Given the description of an element on the screen output the (x, y) to click on. 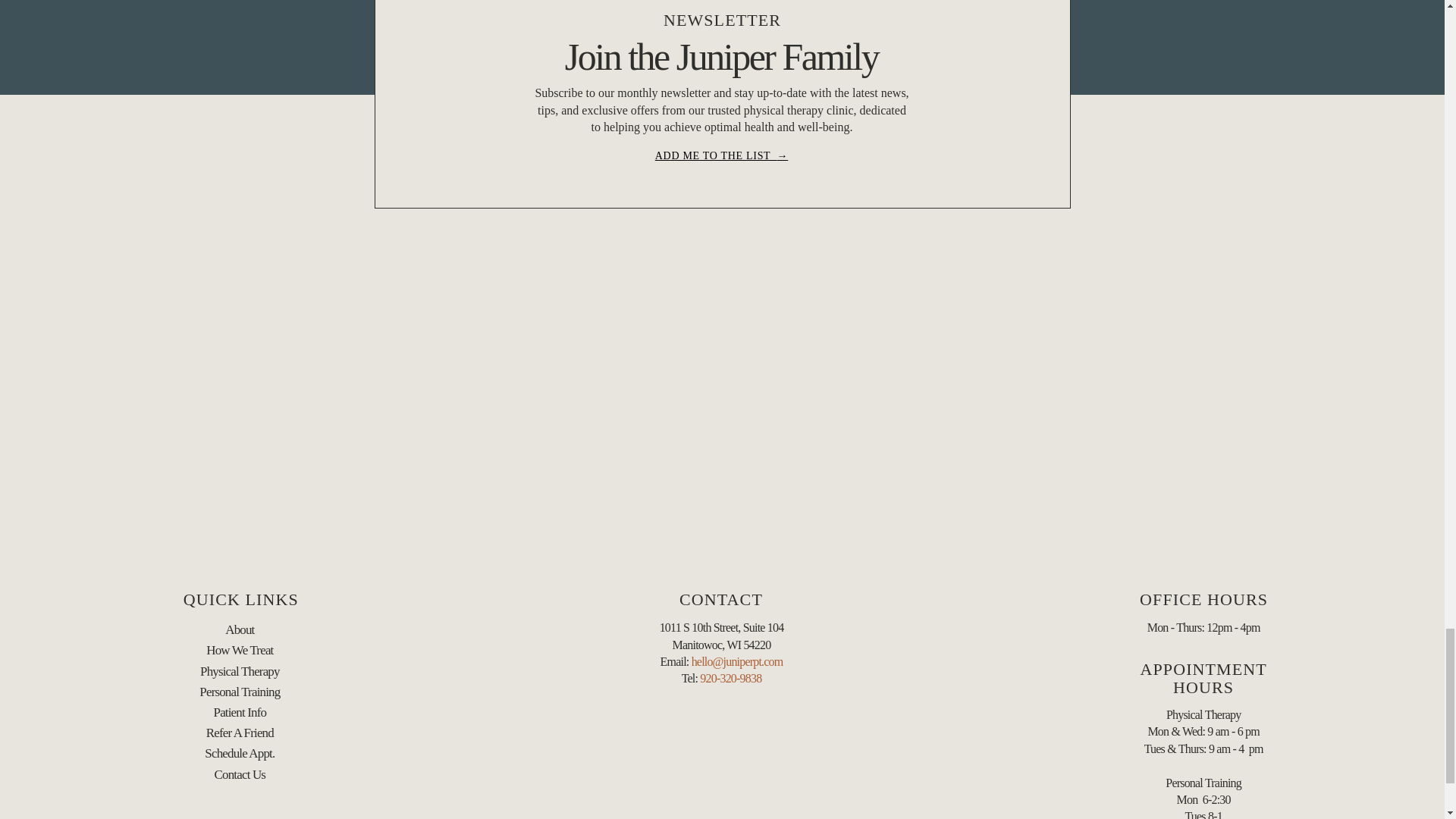
About (239, 629)
